Given the description of an element on the screen output the (x, y) to click on. 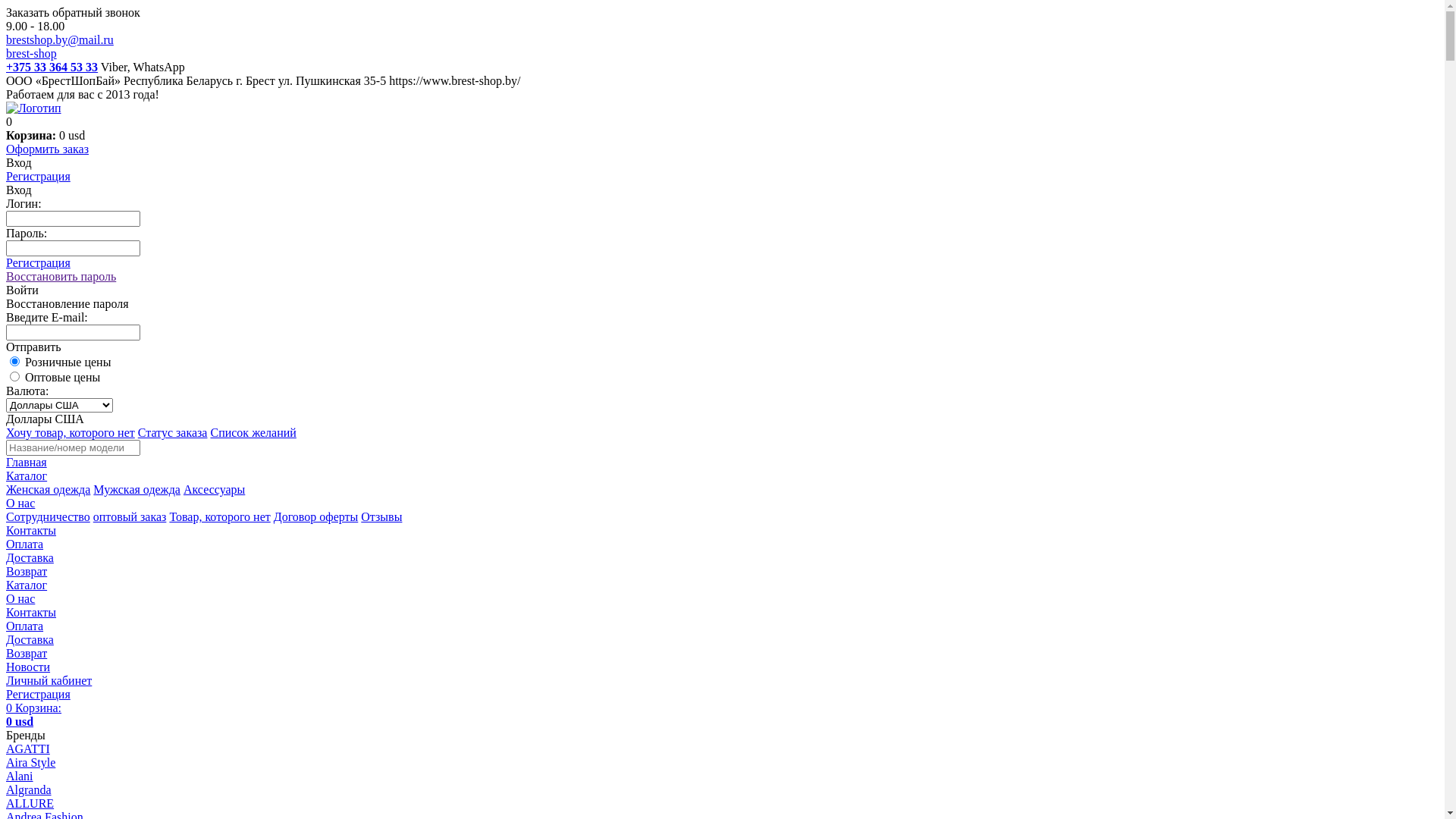
brestshop.by@mail.ru Element type: text (59, 39)
Aira Style Element type: text (30, 762)
AGATTI Element type: text (28, 748)
+375 33 364 53 33 Element type: text (51, 66)
ALLURE Element type: text (29, 803)
brest-shop Element type: text (31, 53)
Algranda Element type: text (28, 789)
Alani Element type: text (19, 775)
